Given the description of an element on the screen output the (x, y) to click on. 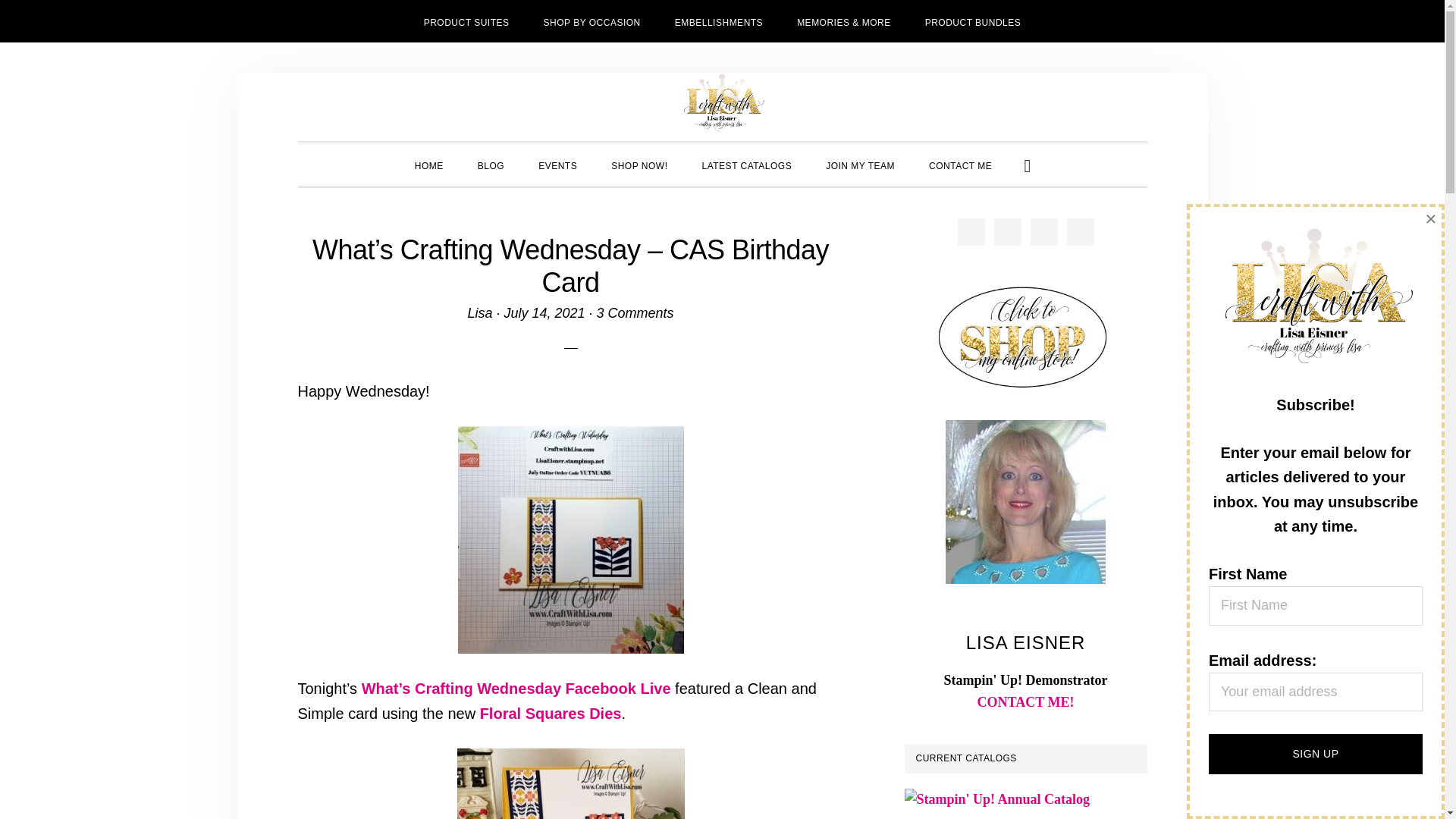
BLOG (491, 164)
LISA EISNER - STAMPIN' UP! DEMONSTRATOR (721, 102)
Lisa (479, 313)
EVENTS (557, 164)
EMBELLISHMENTS (718, 21)
SHOP BY OCCASION (591, 21)
Floral Squares Dies (550, 713)
3 Comments (635, 313)
PRODUCT SUITES (466, 21)
PRODUCT BUNDLES (973, 21)
JOIN MY TEAM (860, 164)
Sign up (1315, 753)
SHOP NOW! (638, 164)
HOME (428, 164)
